Given the description of an element on the screen output the (x, y) to click on. 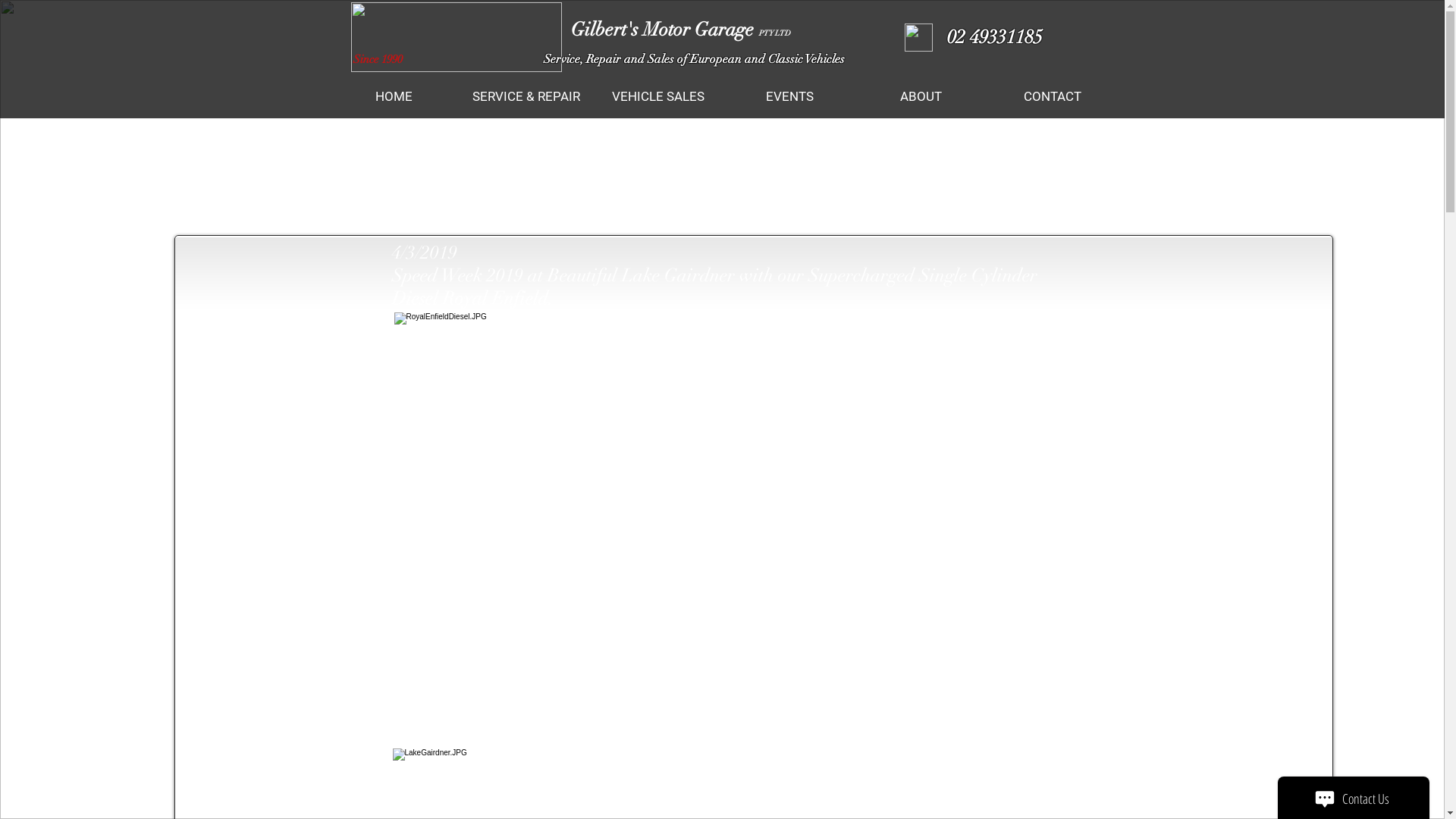
ABOUT Element type: text (920, 96)
VEHICLE SALES Element type: text (657, 96)
EVENTS Element type: text (788, 96)
CONTACT Element type: text (1051, 96)
HOME Element type: text (393, 96)
SERVICE & REPAIR Element type: text (525, 96)
 02 49331185 Element type: text (991, 36)
